Given the description of an element on the screen output the (x, y) to click on. 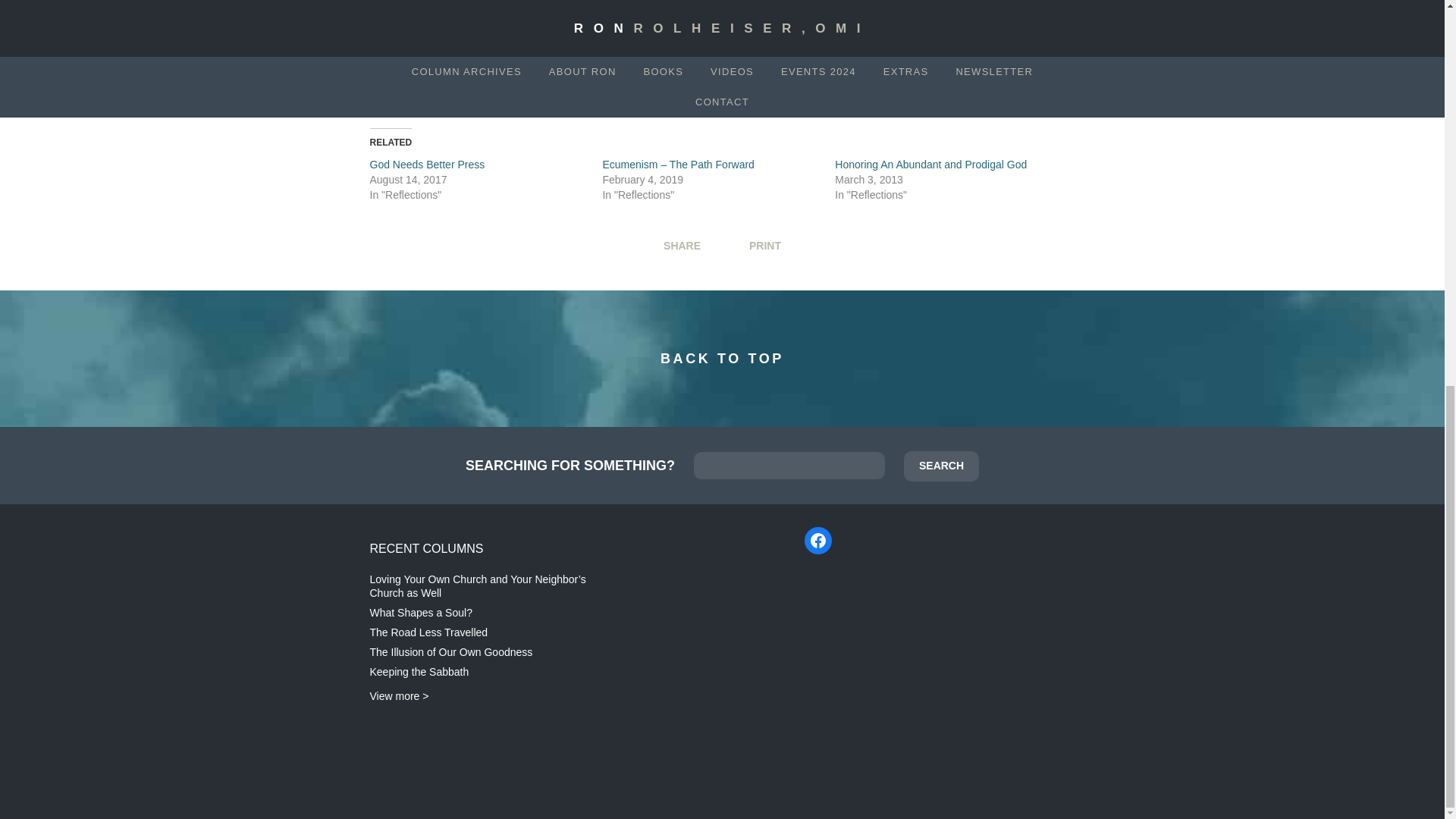
Search (941, 466)
Honoring An Abundant and Prodigal God (930, 164)
God Needs Better Press  (428, 164)
Honoring An Abundant and Prodigal God (930, 164)
